Given the description of an element on the screen output the (x, y) to click on. 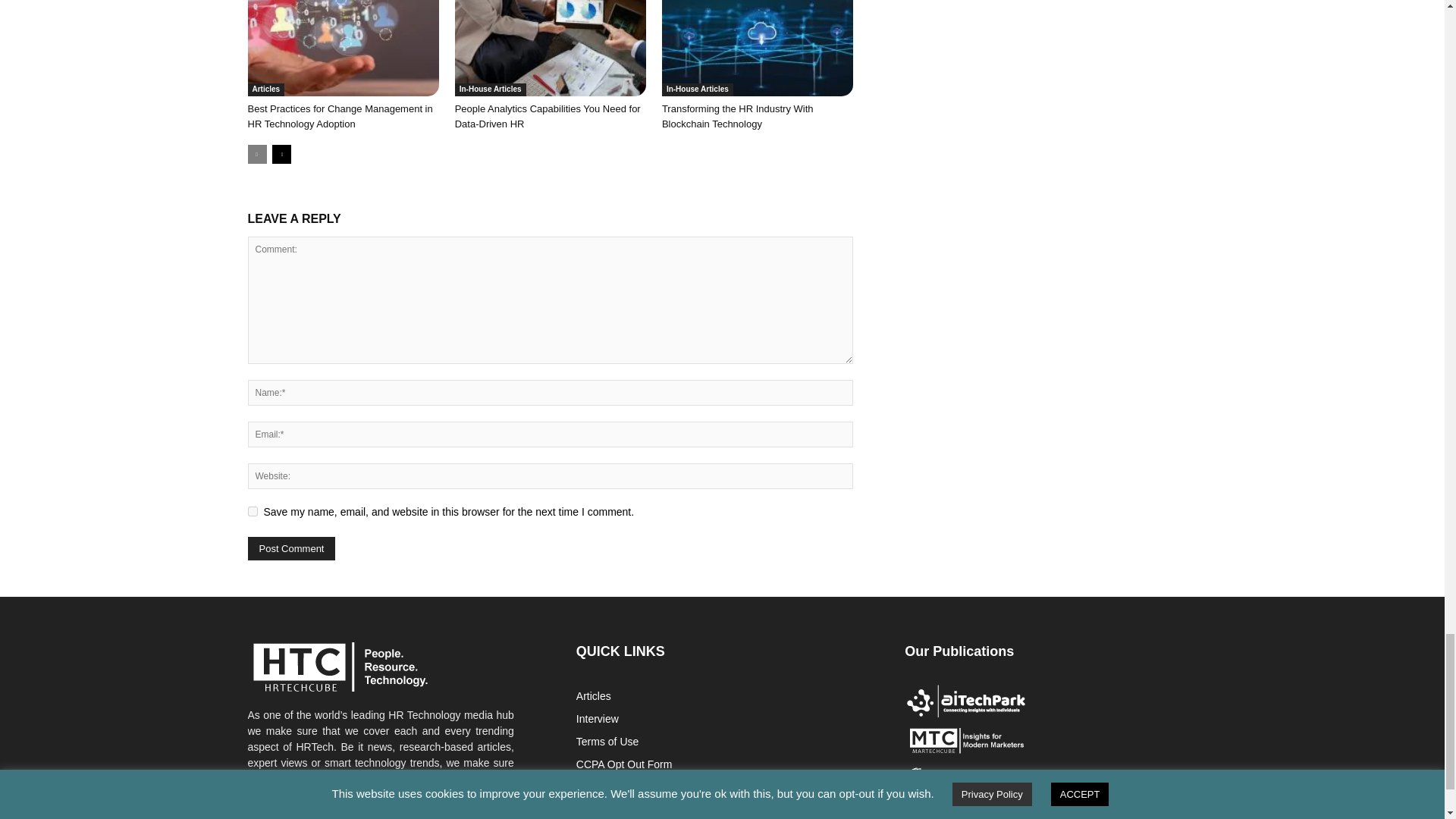
yes (252, 511)
Post Comment (290, 548)
